Given the description of an element on the screen output the (x, y) to click on. 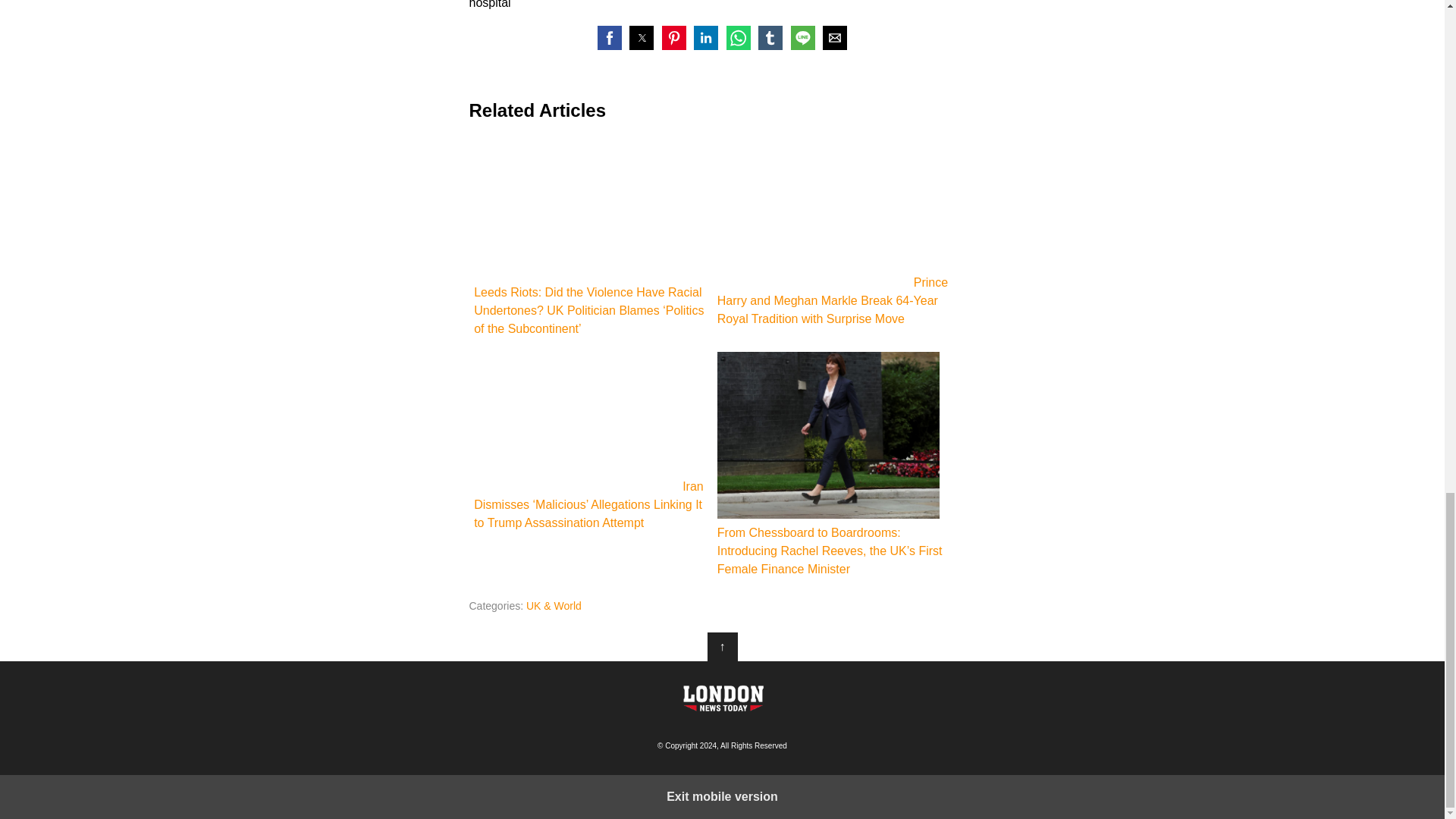
Londonnewstime.com (721, 698)
